Given the description of an element on the screen output the (x, y) to click on. 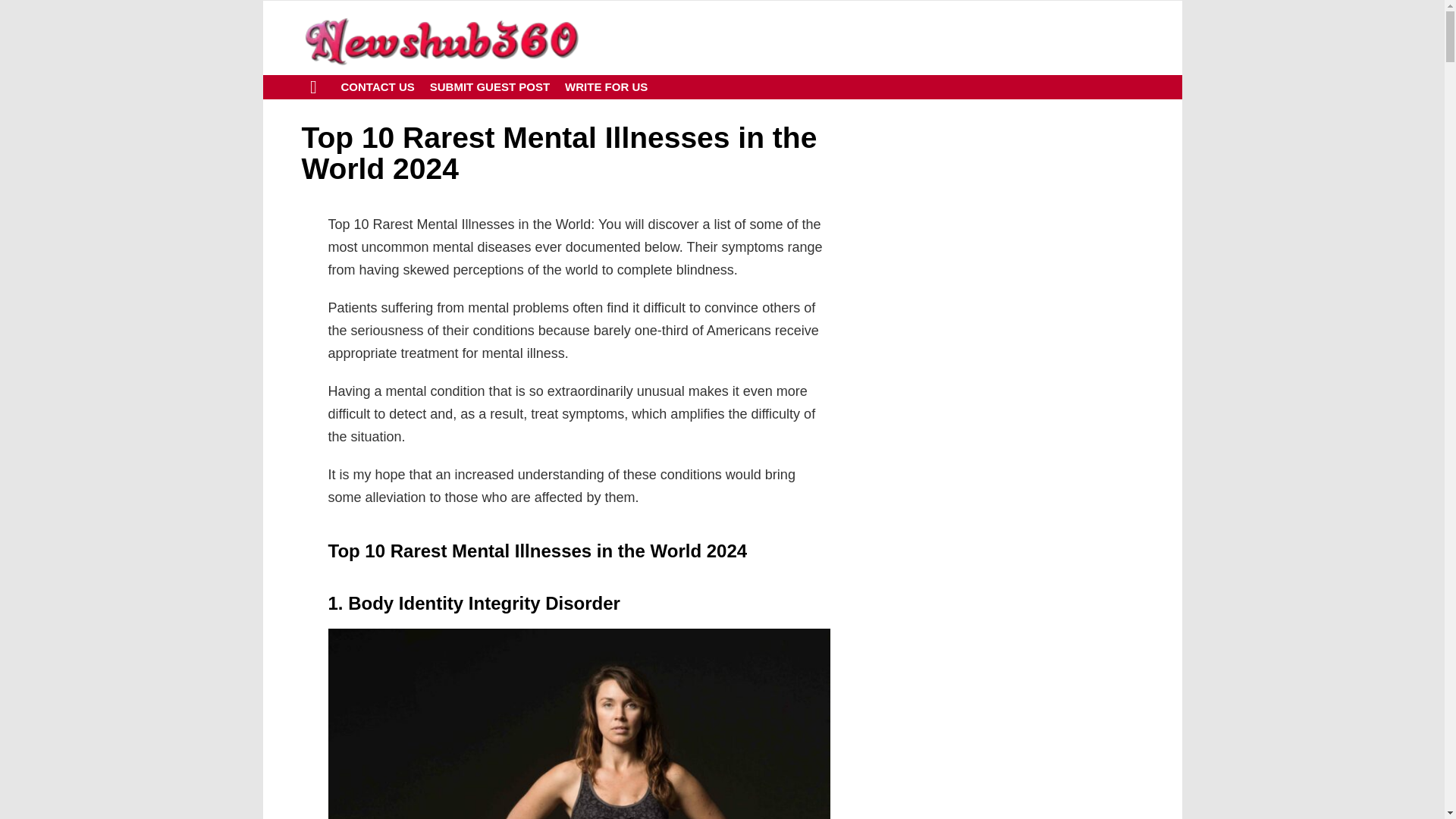
Menu (313, 87)
WRITE FOR US (606, 87)
SUBMIT GUEST POST (489, 87)
CONTACT US (377, 87)
